Given the description of an element on the screen output the (x, y) to click on. 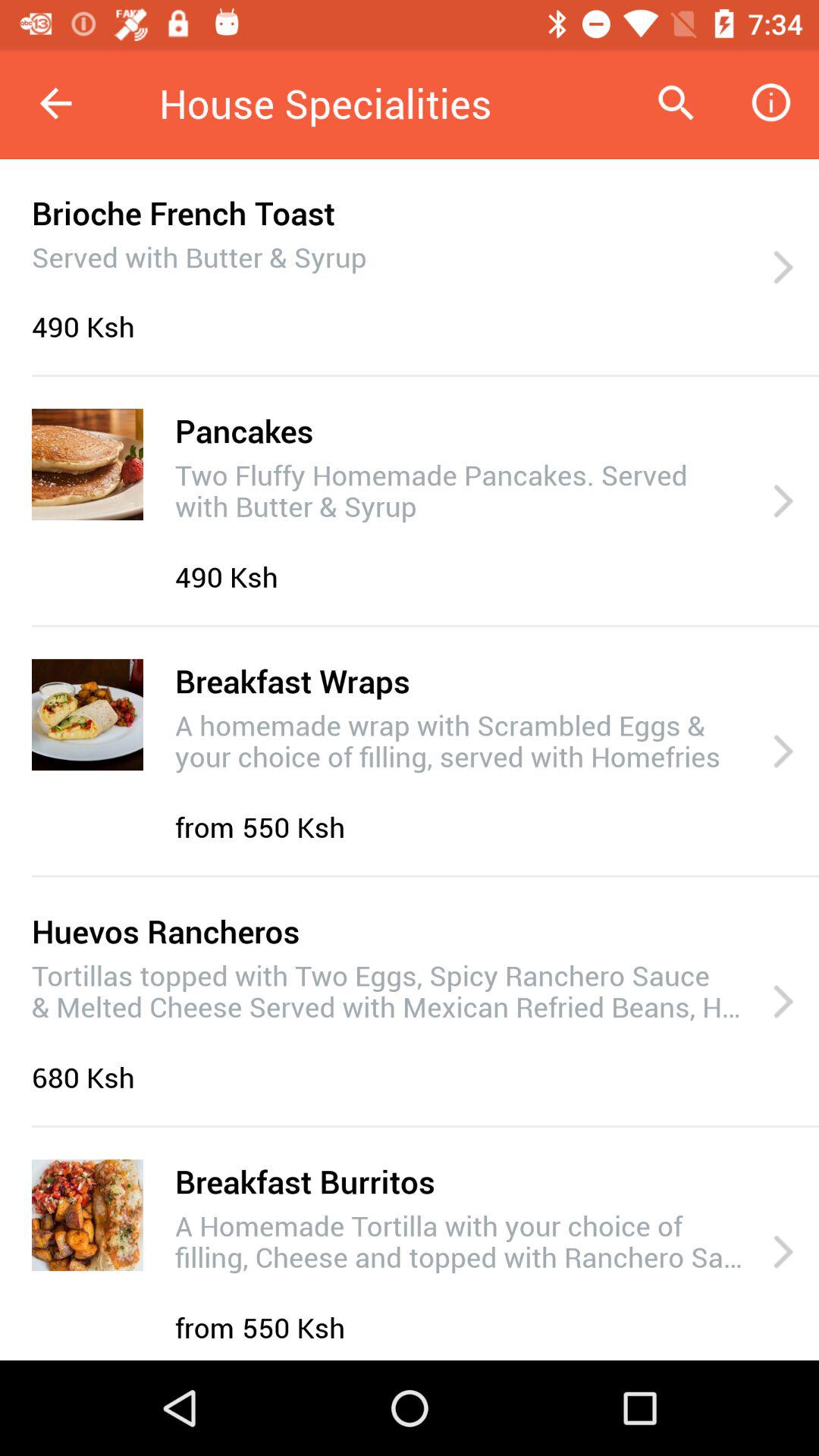
open the item next to the served with butter icon (783, 268)
